Given the description of an element on the screen output the (x, y) to click on. 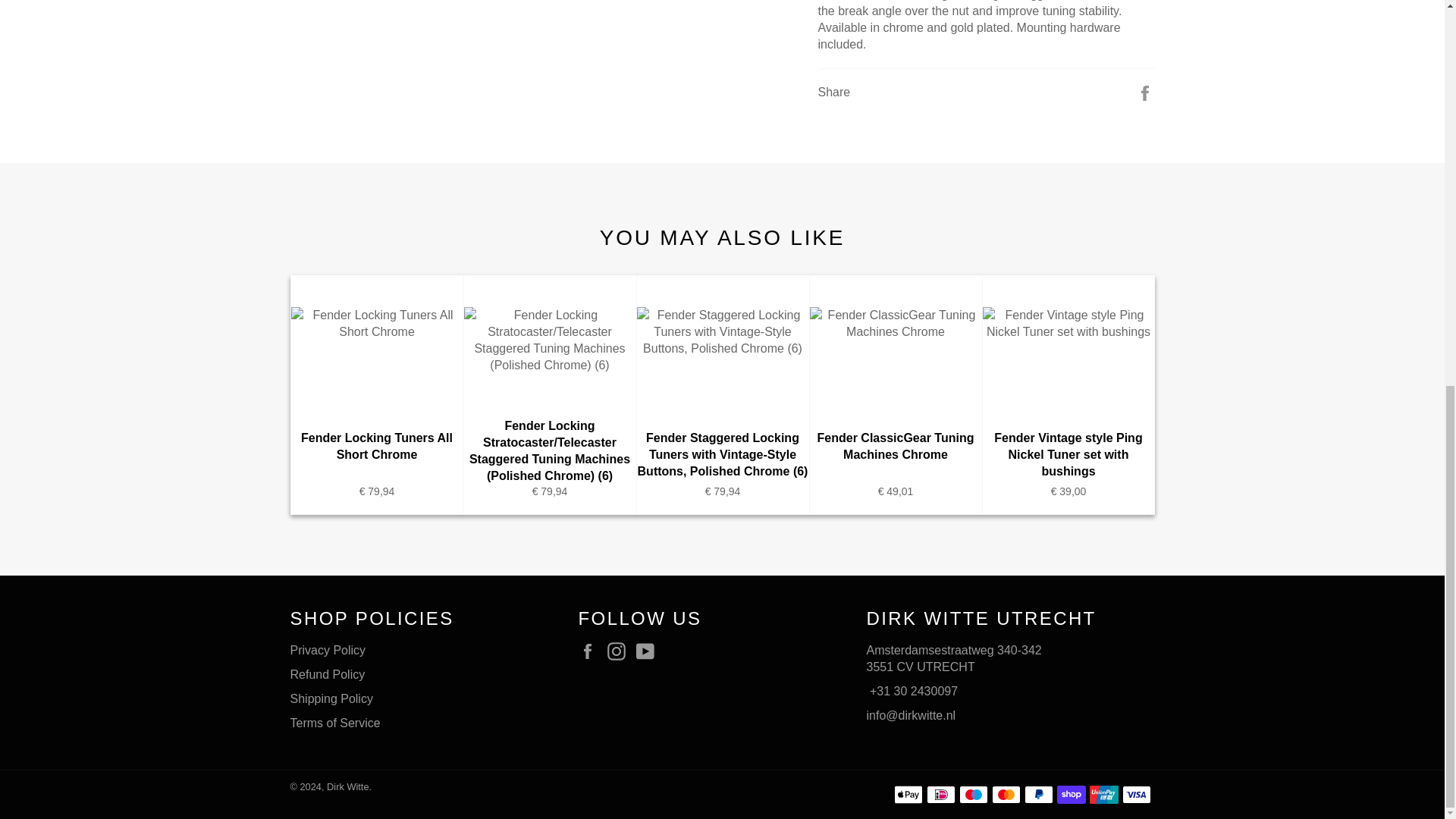
Dirk Witte on Instagram (620, 651)
Dirk Witte on YouTube (649, 651)
Dirk Witte on Facebook (591, 651)
Share on Facebook (1144, 91)
